Given the description of an element on the screen output the (x, y) to click on. 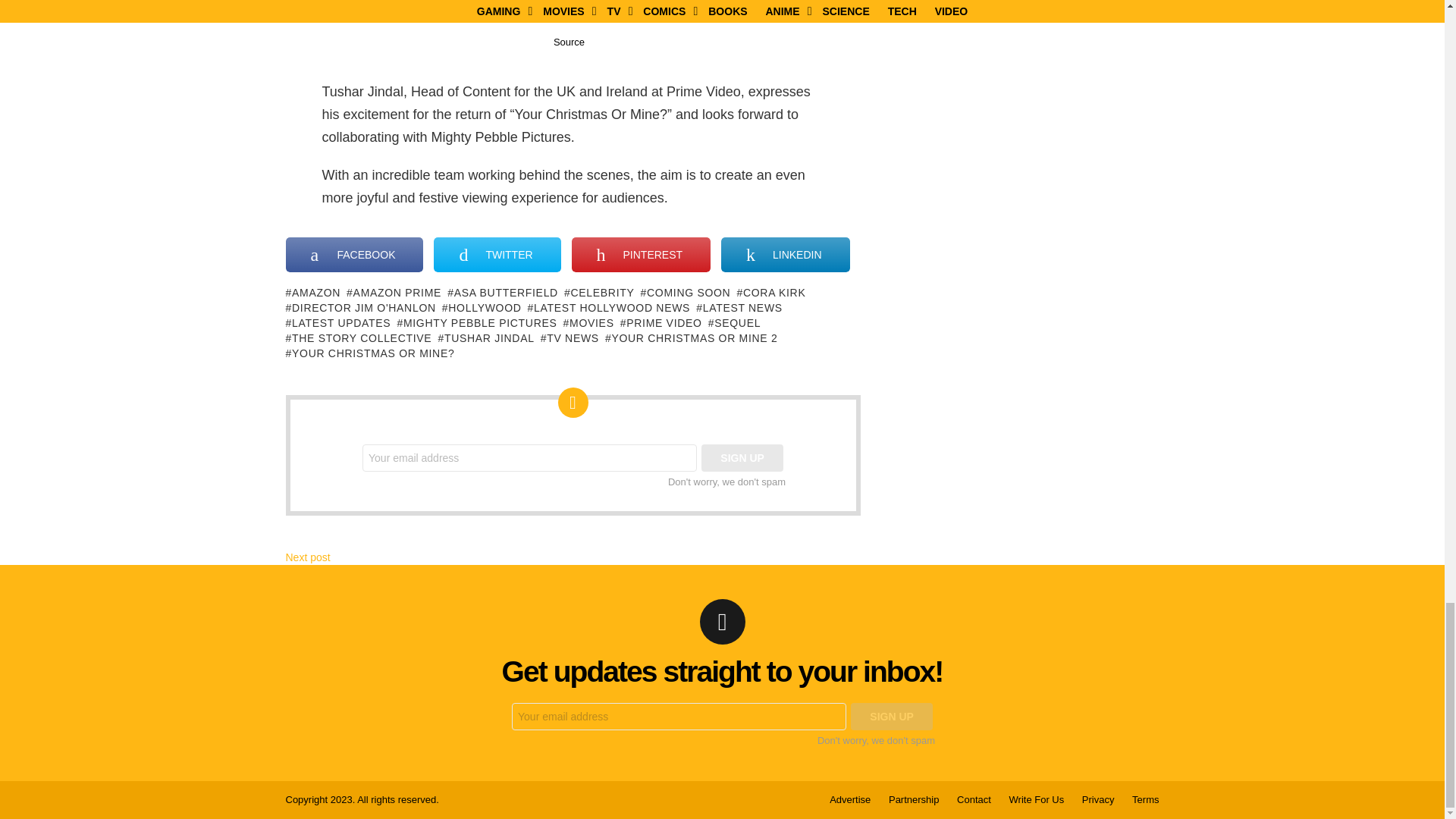
Sign up (742, 457)
Share on LinkedIn (784, 254)
Share on Facebook (354, 254)
Share on Twitter (496, 254)
Sign up (891, 716)
Share on Pinterest (641, 254)
